Given the description of an element on the screen output the (x, y) to click on. 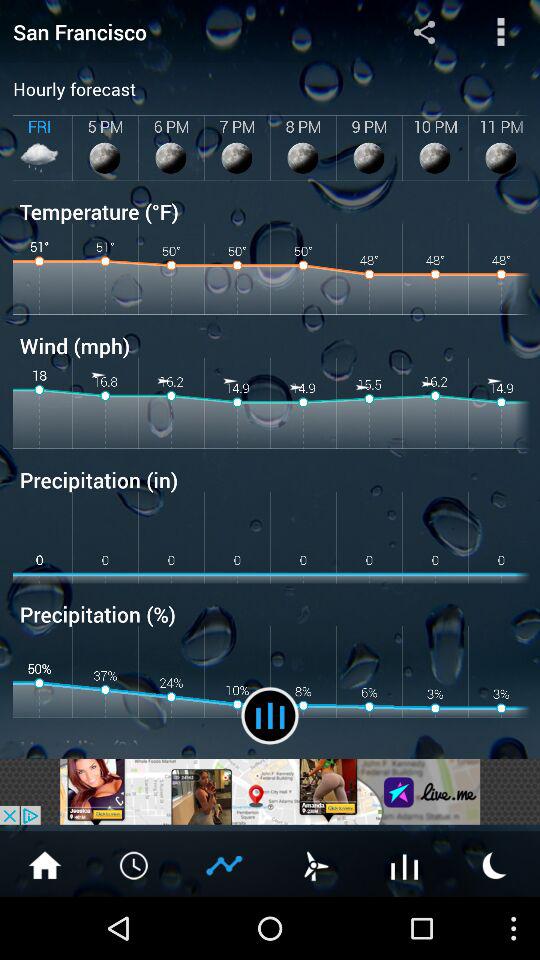
change forecast view (269, 715)
